Given the description of an element on the screen output the (x, y) to click on. 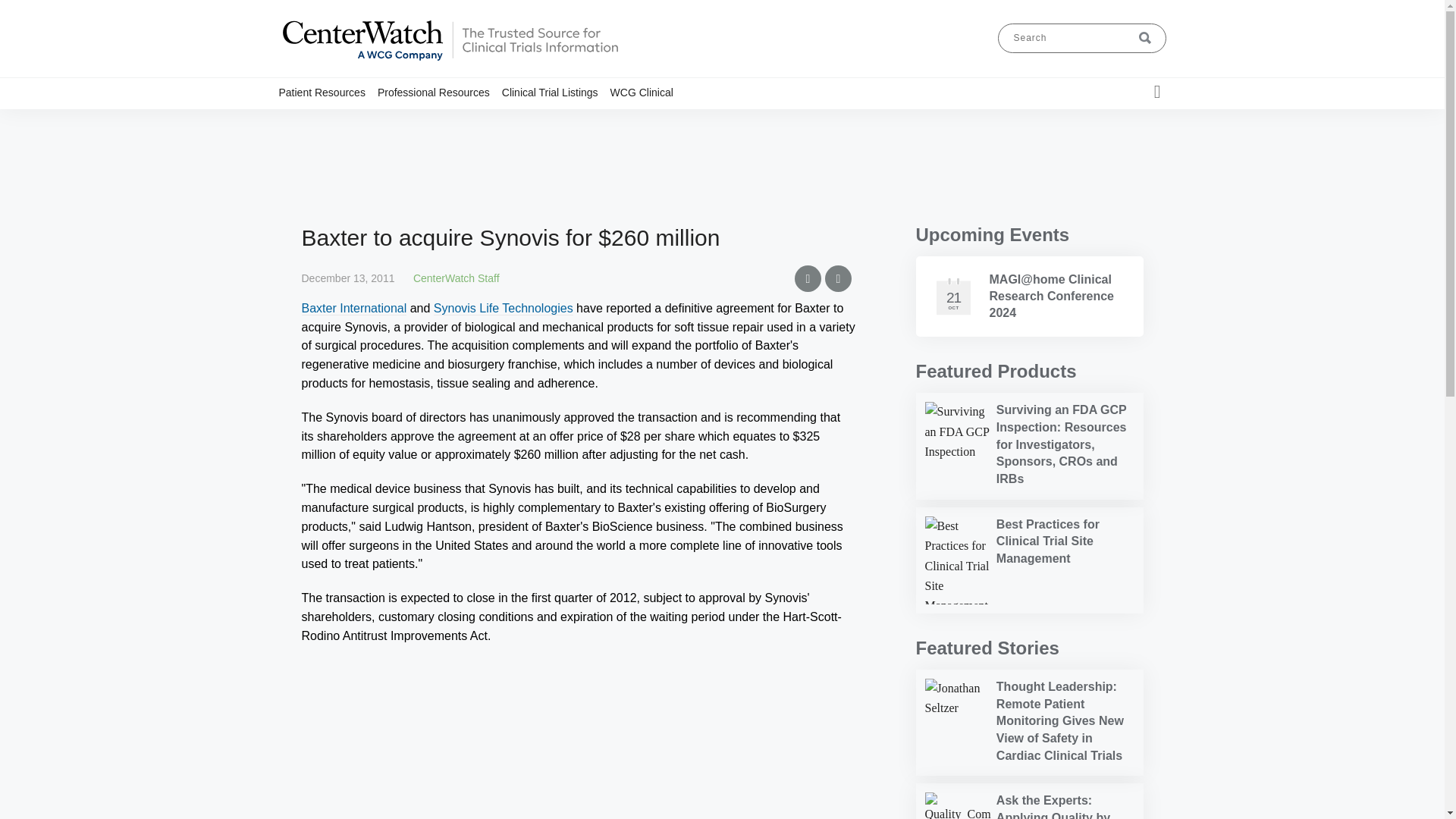
Newsletters (484, 121)
Benchmark Reports (464, 121)
Featured Products (996, 371)
Clinical Trial Listings (556, 91)
What are Clinical Trials? (360, 121)
Market Research (459, 121)
Professional Resources (439, 91)
SOPs (488, 121)
Books (477, 121)
Upcoming Events (992, 234)
